Given the description of an element on the screen output the (x, y) to click on. 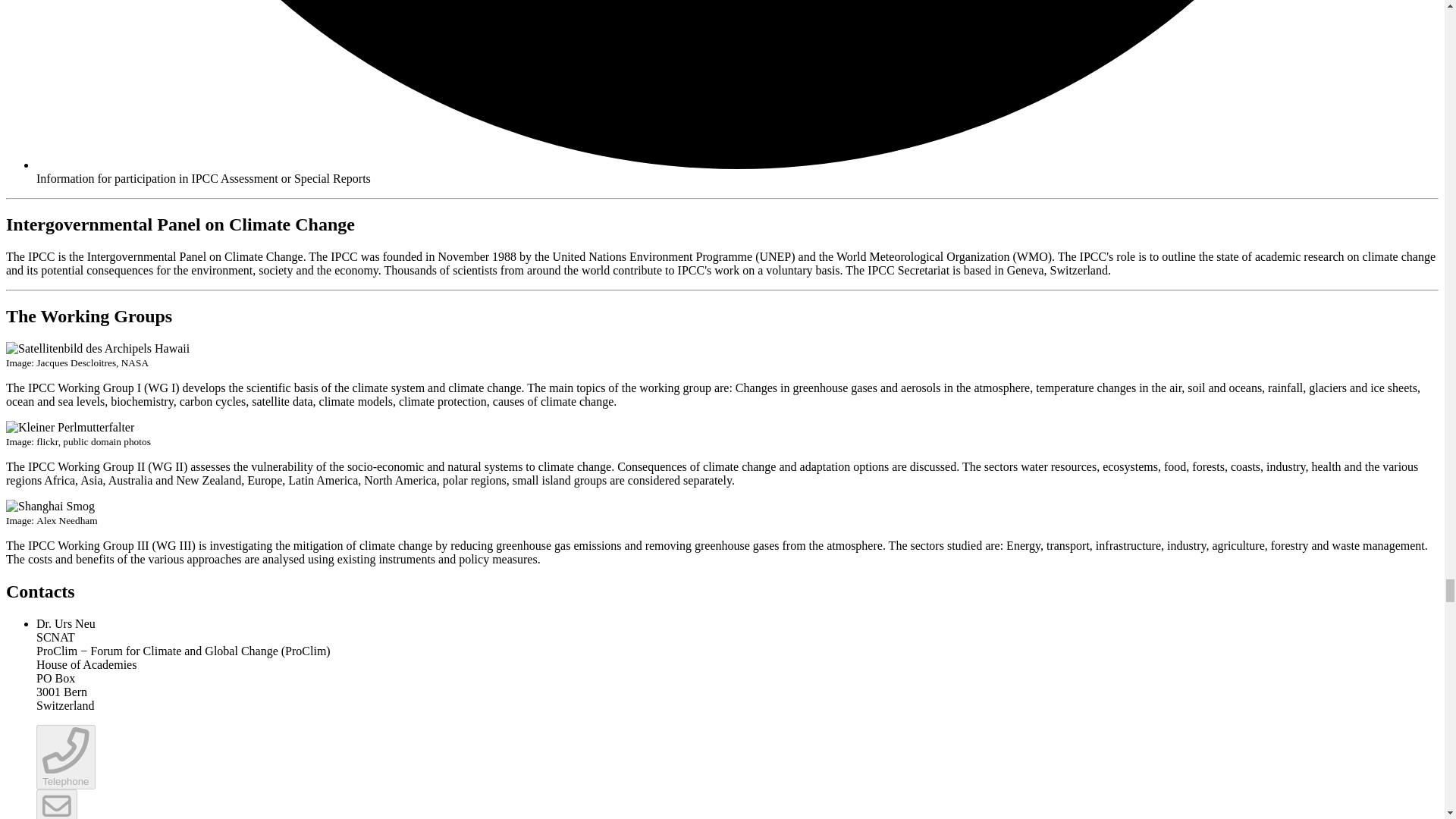
Satellitenbild des Archipels Hawaii (97, 348)
Kleiner Perlmutterfalter (69, 427)
Shanghai Smog (49, 506)
